Given the description of an element on the screen output the (x, y) to click on. 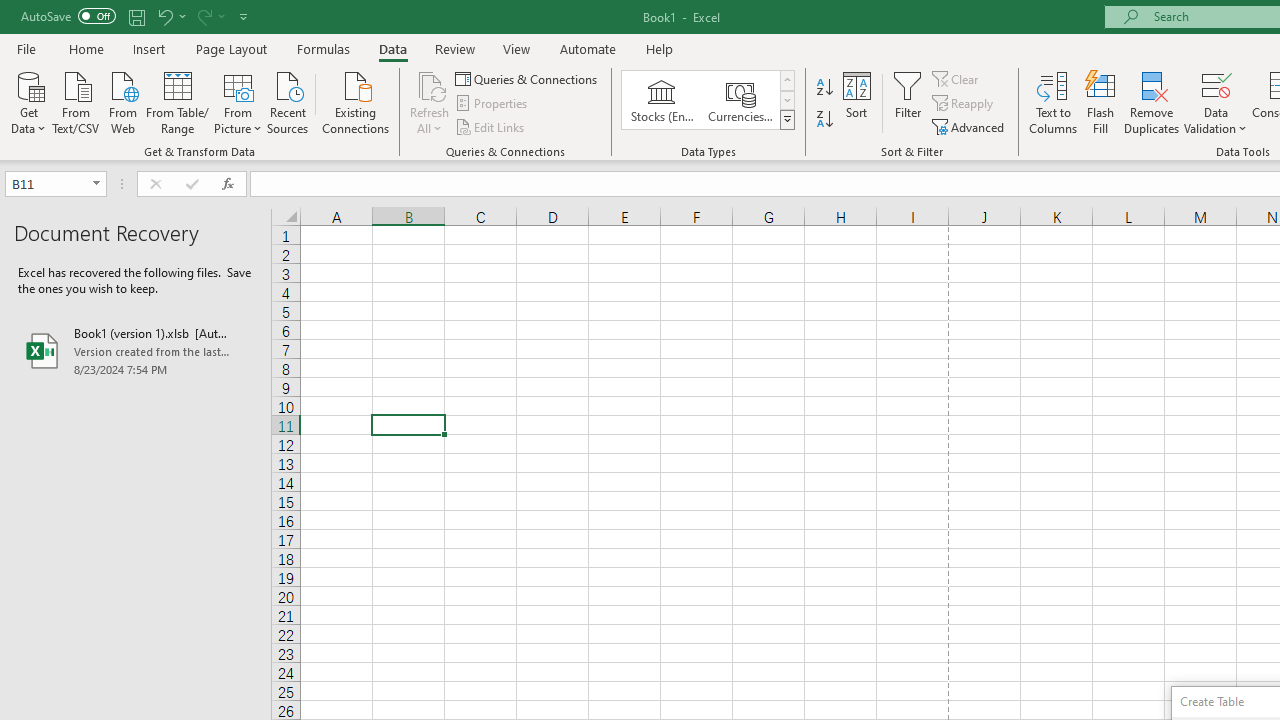
Formulas (323, 48)
Open (96, 183)
Data Validation... (1215, 102)
Page Layout (230, 48)
Refresh All (429, 102)
Reapply (964, 103)
Sort A to Z (824, 87)
Remove Duplicates (1151, 102)
Review (454, 48)
Stocks (English) (662, 100)
Data Types (786, 120)
